Given the description of an element on the screen output the (x, y) to click on. 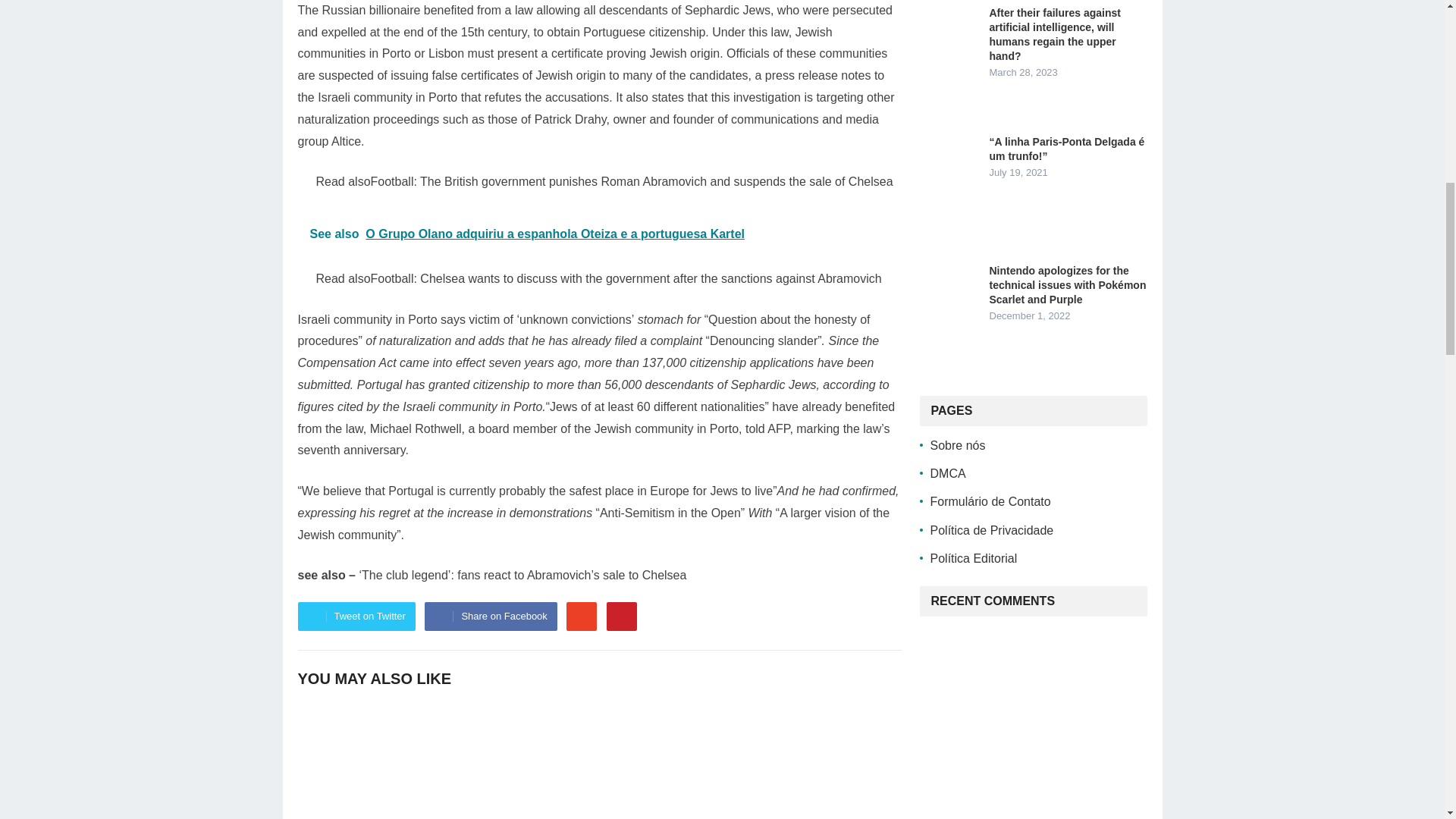
Share on Facebook (490, 615)
Tweet on Twitter (355, 615)
Huge water savings in the Algarve (599, 761)
Portugal gives green light to second lithium mine (805, 761)
